Given the description of an element on the screen output the (x, y) to click on. 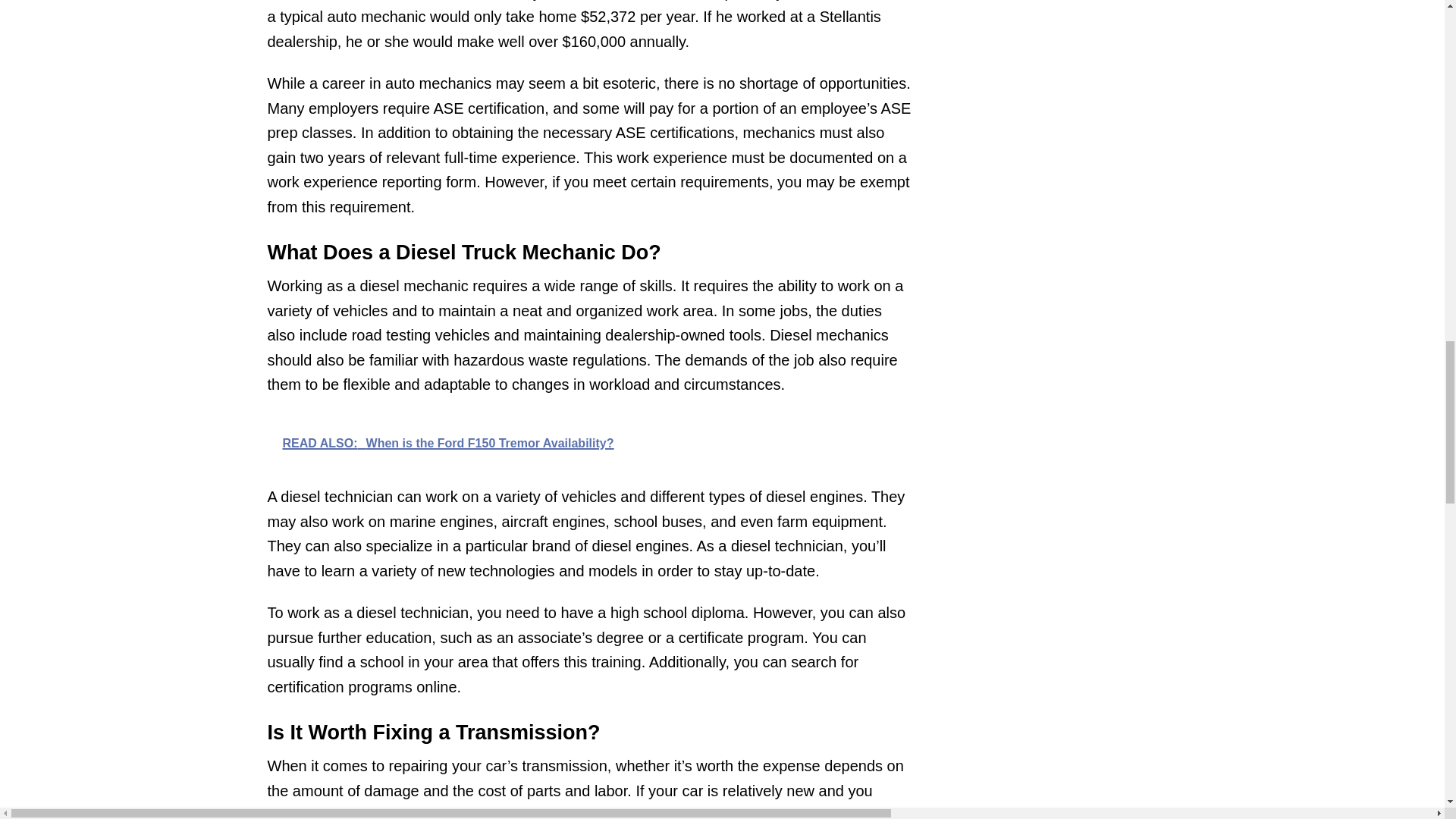
READ ALSO:  When is the Ford F150 Tremor Availability? (588, 442)
